Given the description of an element on the screen output the (x, y) to click on. 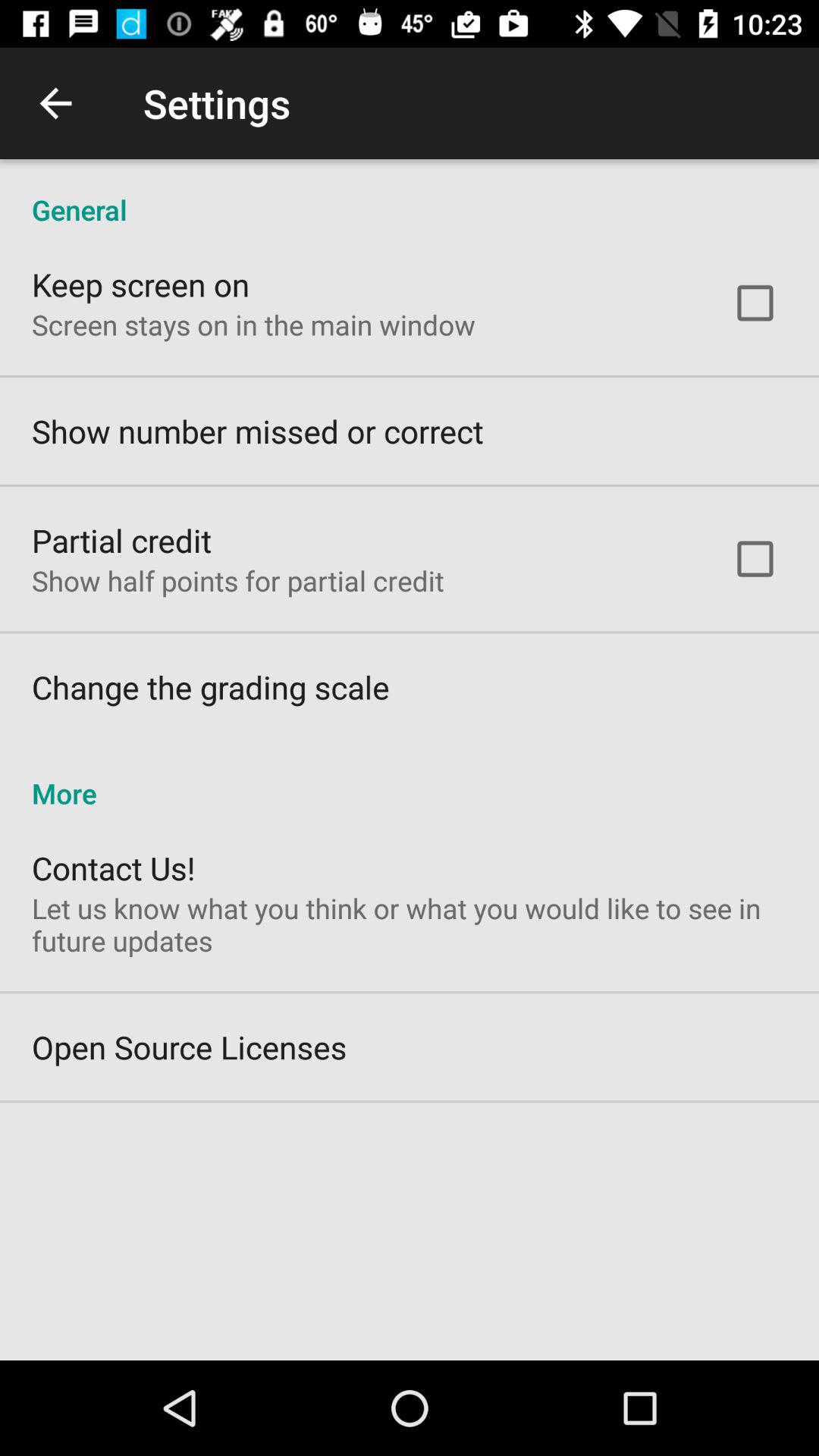
jump until the show number missed (257, 430)
